Given the description of an element on the screen output the (x, y) to click on. 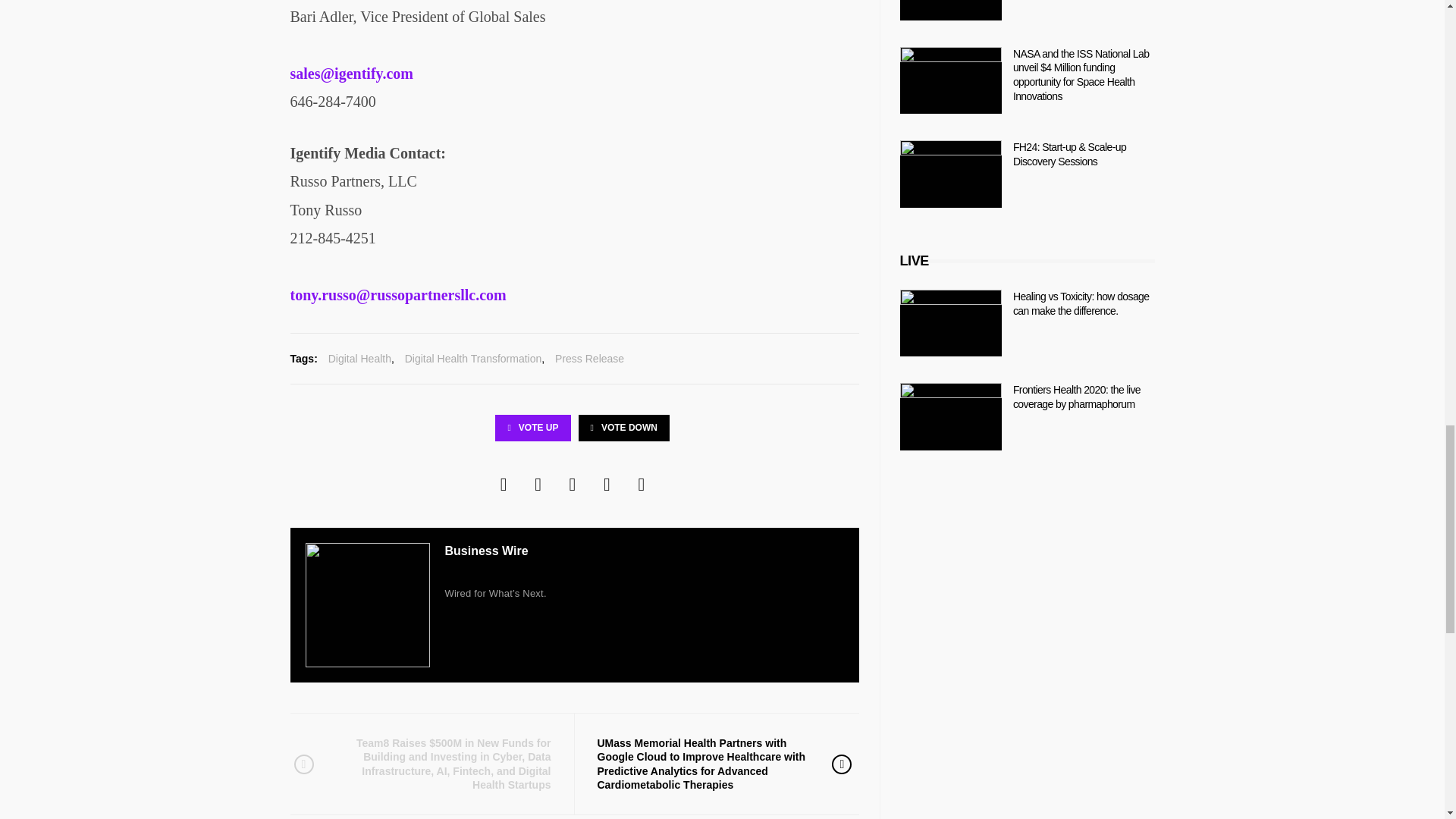
Press Release (589, 358)
Digital Health Transformation (472, 358)
Digital Health (360, 358)
VOTE DOWN (623, 427)
VOTE UP (532, 427)
